Given the description of an element on the screen output the (x, y) to click on. 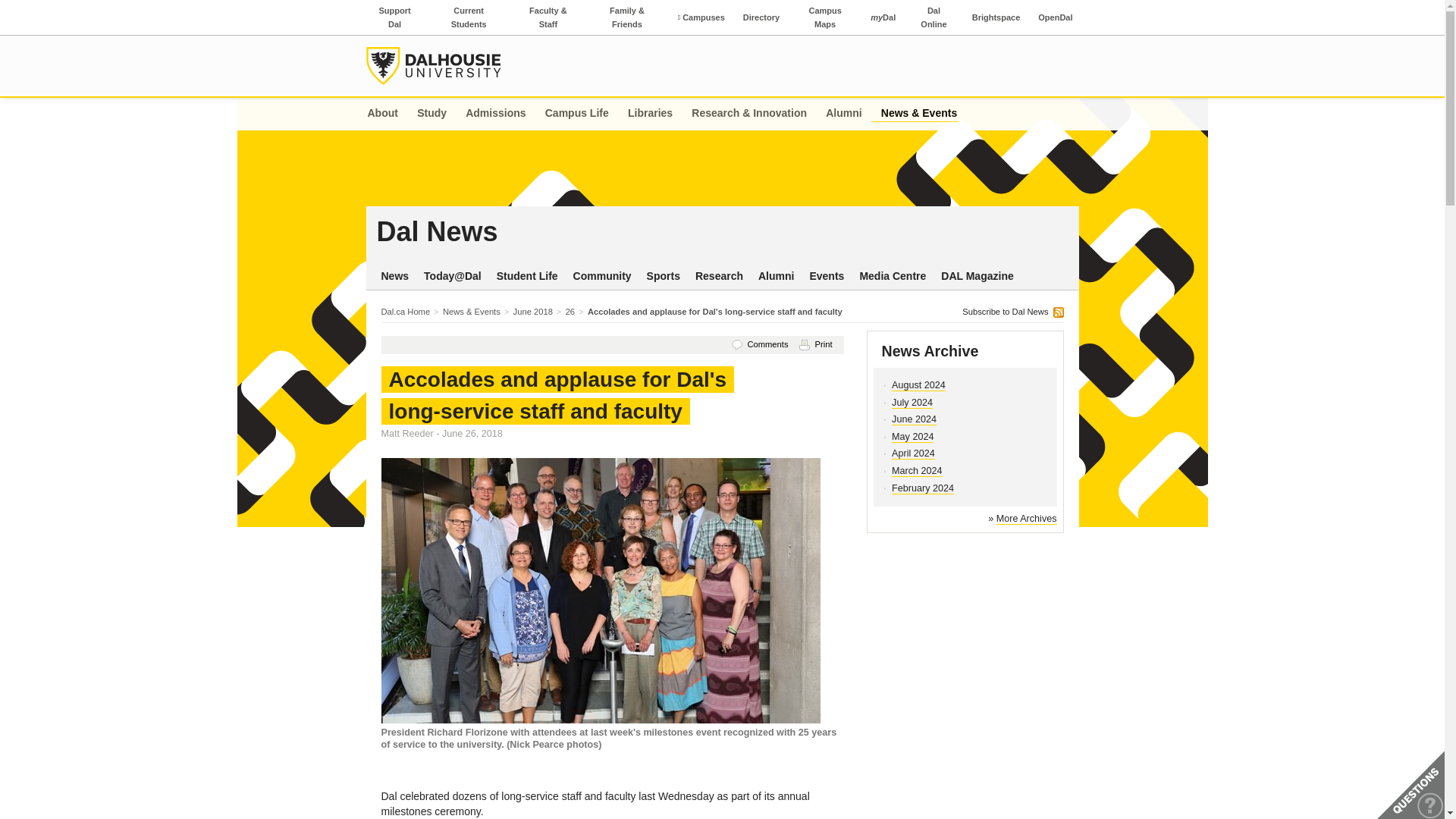
Research (719, 276)
Sports (663, 276)
Current Students (468, 17)
Campus Maps (825, 17)
Back to Dalhousie University Home Page (432, 65)
Support Dal (394, 17)
Brightspace (996, 17)
Campus Life (882, 17)
Directory (576, 114)
